Given the description of an element on the screen output the (x, y) to click on. 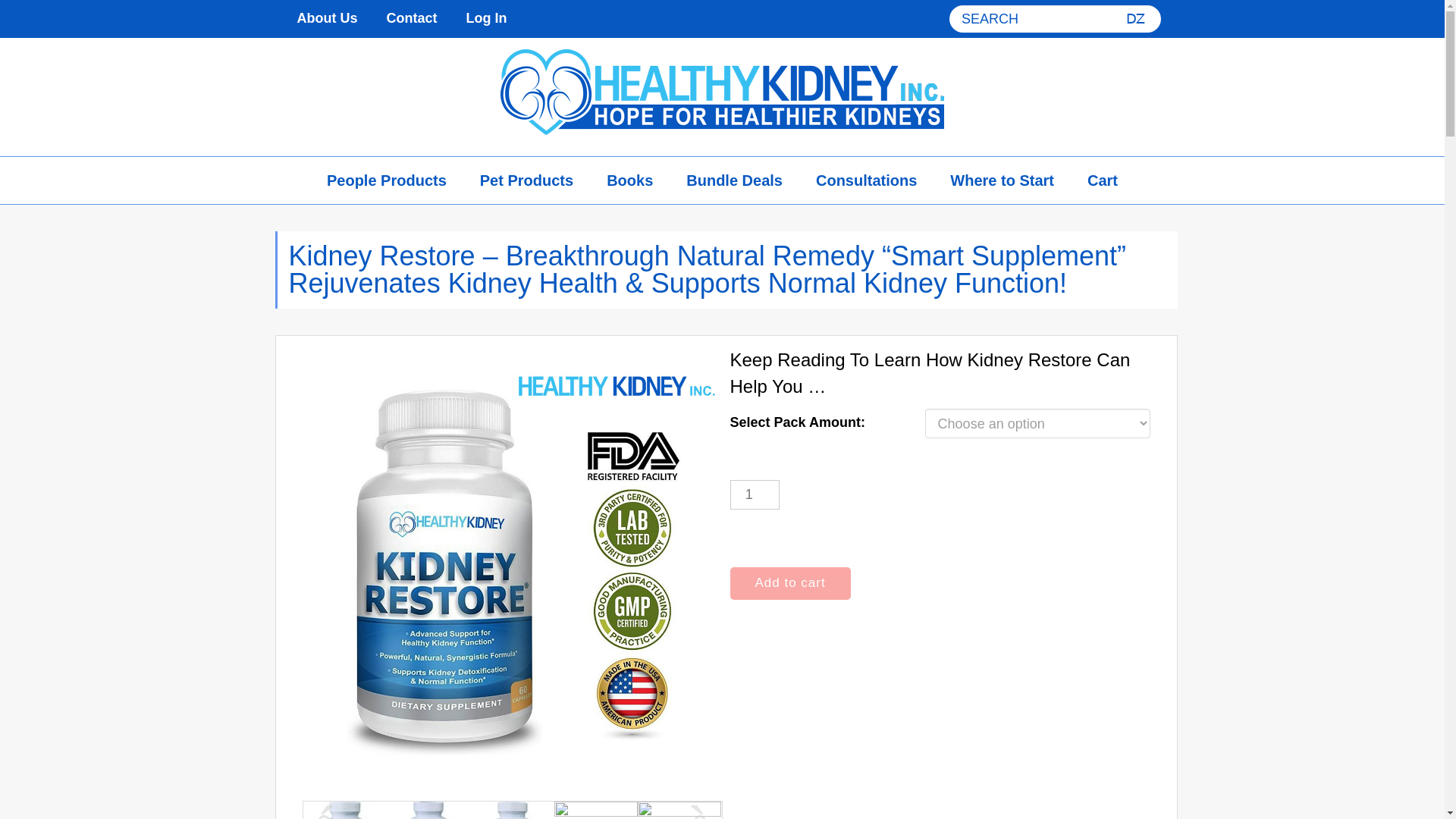
Log In (486, 18)
kidney-restore-04c (511, 810)
Consultations (866, 180)
About Us (326, 18)
kidney-restore-06c (678, 810)
Bundle Deals (733, 180)
Pet Products (526, 180)
Heal Kidney Publishing (721, 92)
Add to cart (789, 582)
kidney-restore-05c (595, 810)
